Given the description of an element on the screen output the (x, y) to click on. 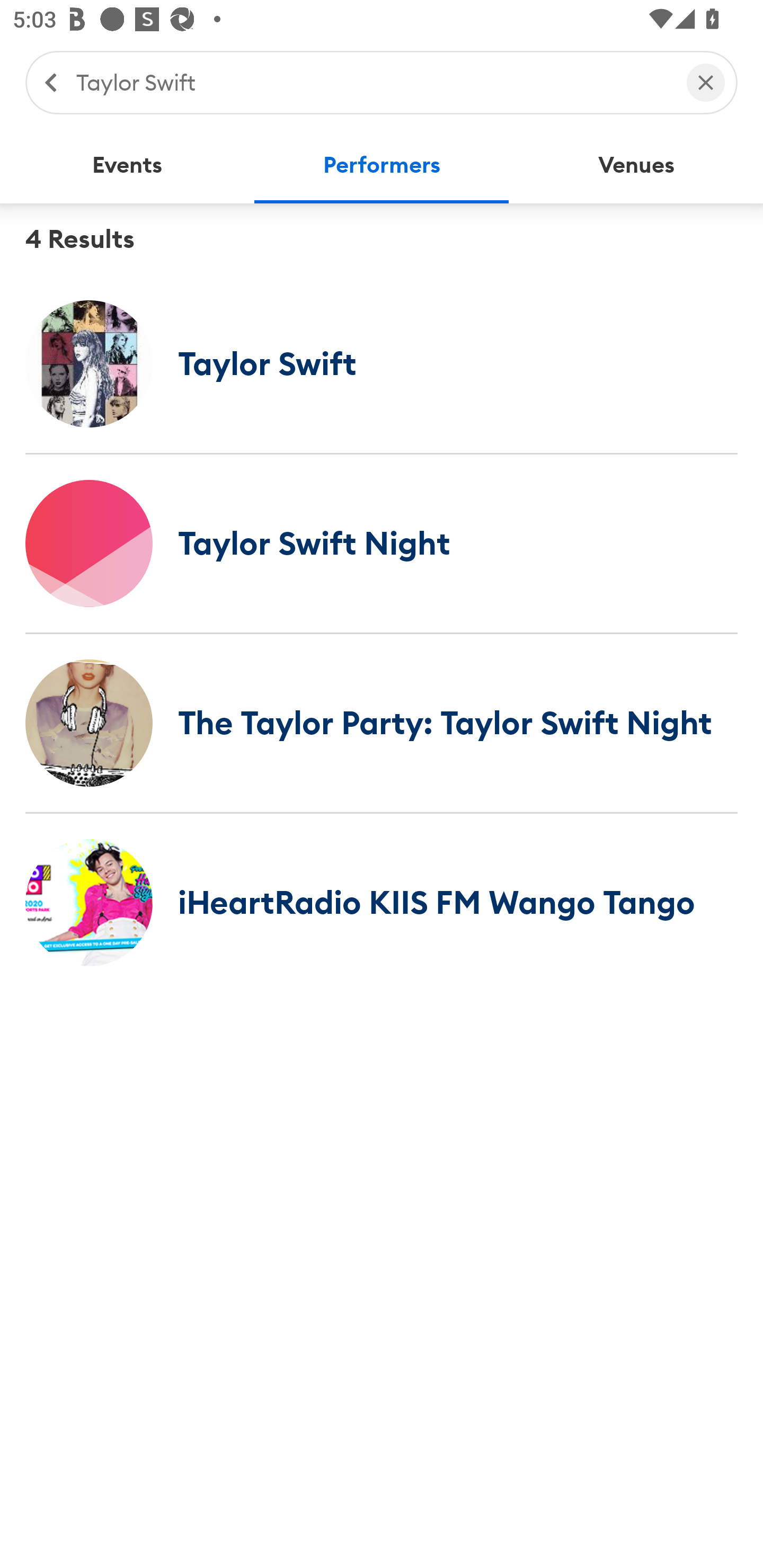
Taylor Swift (371, 81)
Clear Search (705, 81)
Events (127, 165)
Venues (635, 165)
Taylor Swift (381, 363)
Taylor Swift Night (381, 542)
The Taylor Party: Taylor Swift Night (381, 722)
iHeartRadio KIIS FM Wango Tango (381, 901)
